Given the description of an element on the screen output the (x, y) to click on. 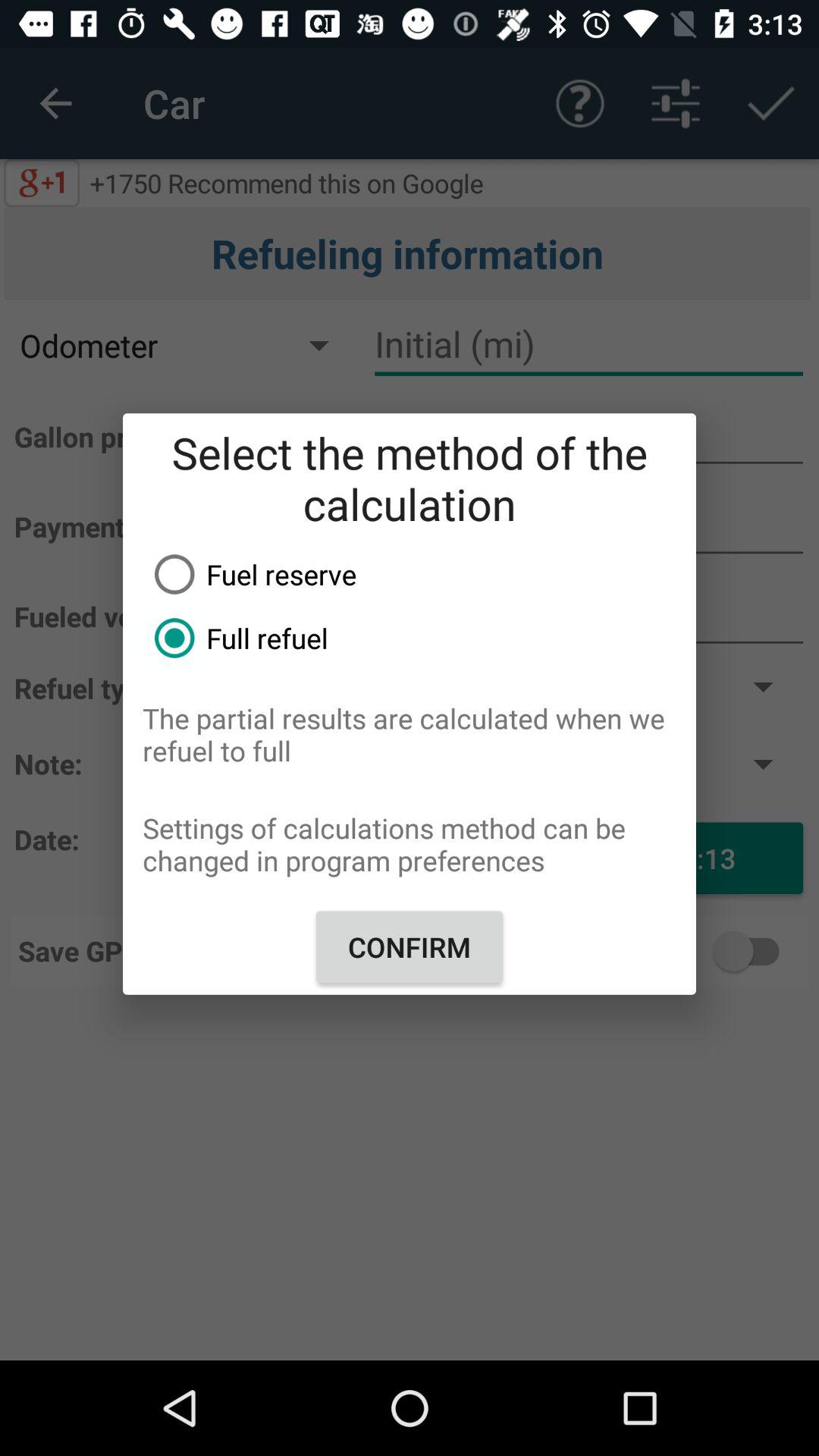
scroll to confirm (409, 946)
